Given the description of an element on the screen output the (x, y) to click on. 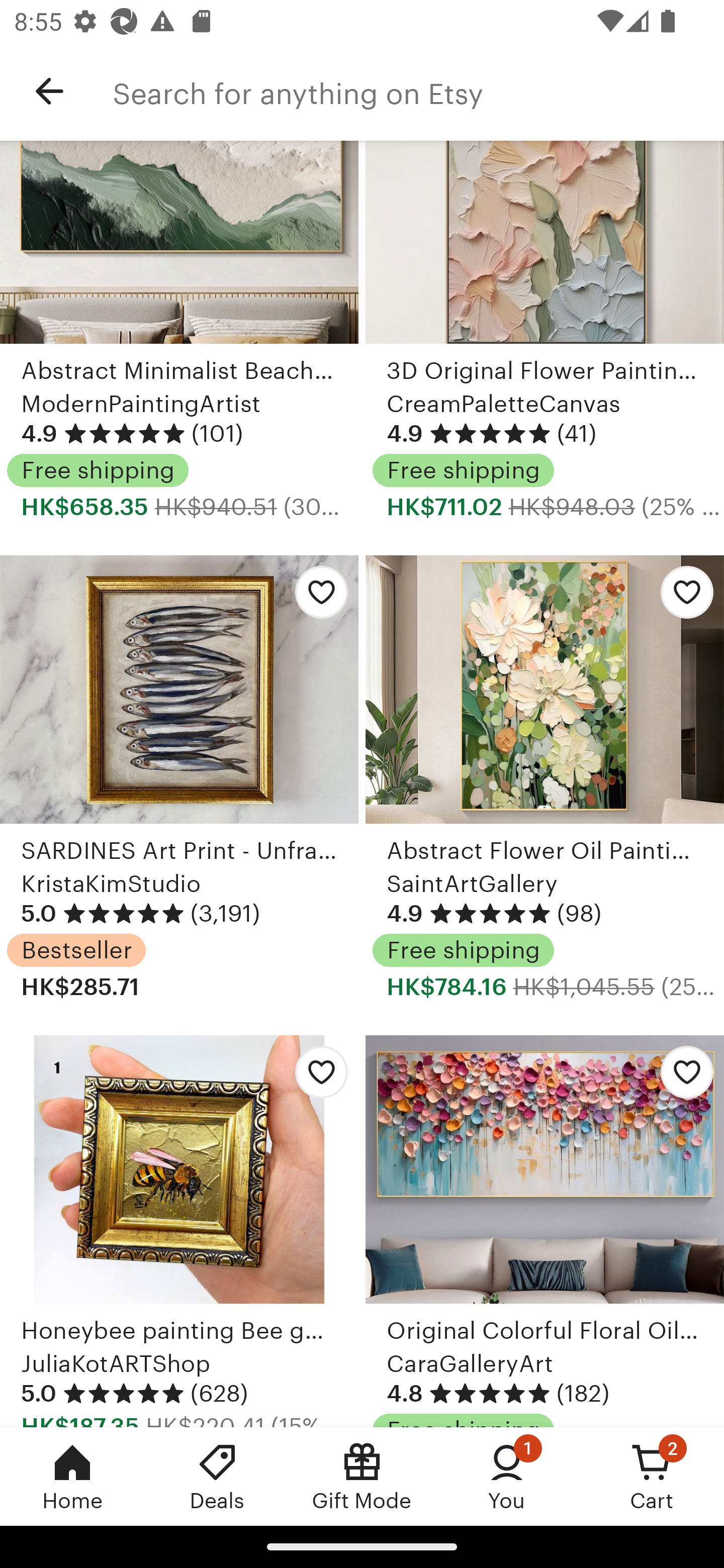
Navigate up (49, 91)
Search for anything on Etsy (418, 91)
Deals (216, 1475)
Gift Mode (361, 1475)
You, 1 new notification You (506, 1475)
Cart, 2 new notifications Cart (651, 1475)
